Given the description of an element on the screen output the (x, y) to click on. 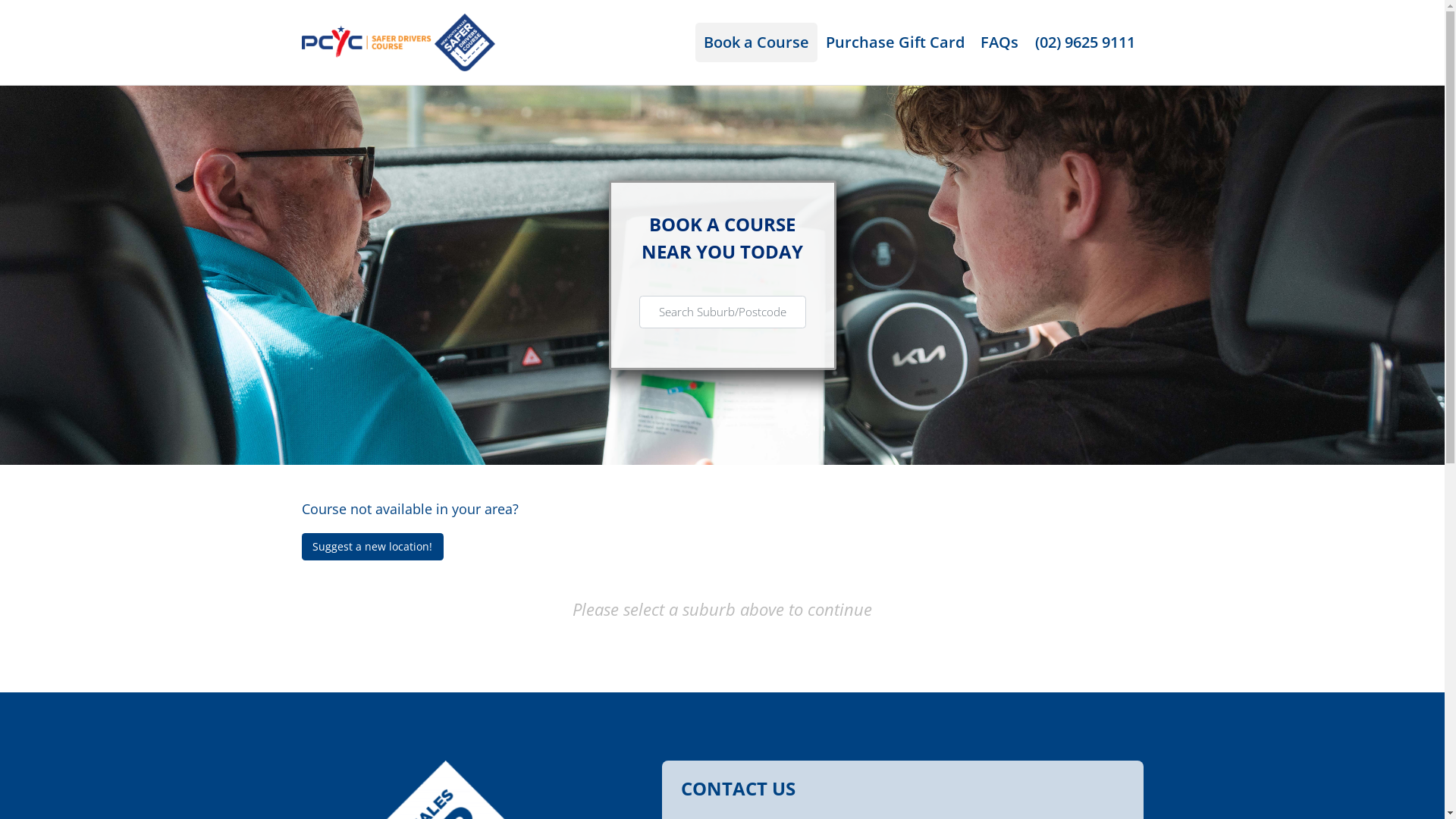
Book a Course Element type: text (756, 42)
(02) 9625 9111 Element type: text (1084, 42)
Purchase Gift Card Element type: text (894, 42)
PCYC Safer Drivers Course Element type: hover (398, 40)
Suggest a new location! Element type: text (372, 546)
FAQs Element type: text (999, 42)
